Given the description of an element on the screen output the (x, y) to click on. 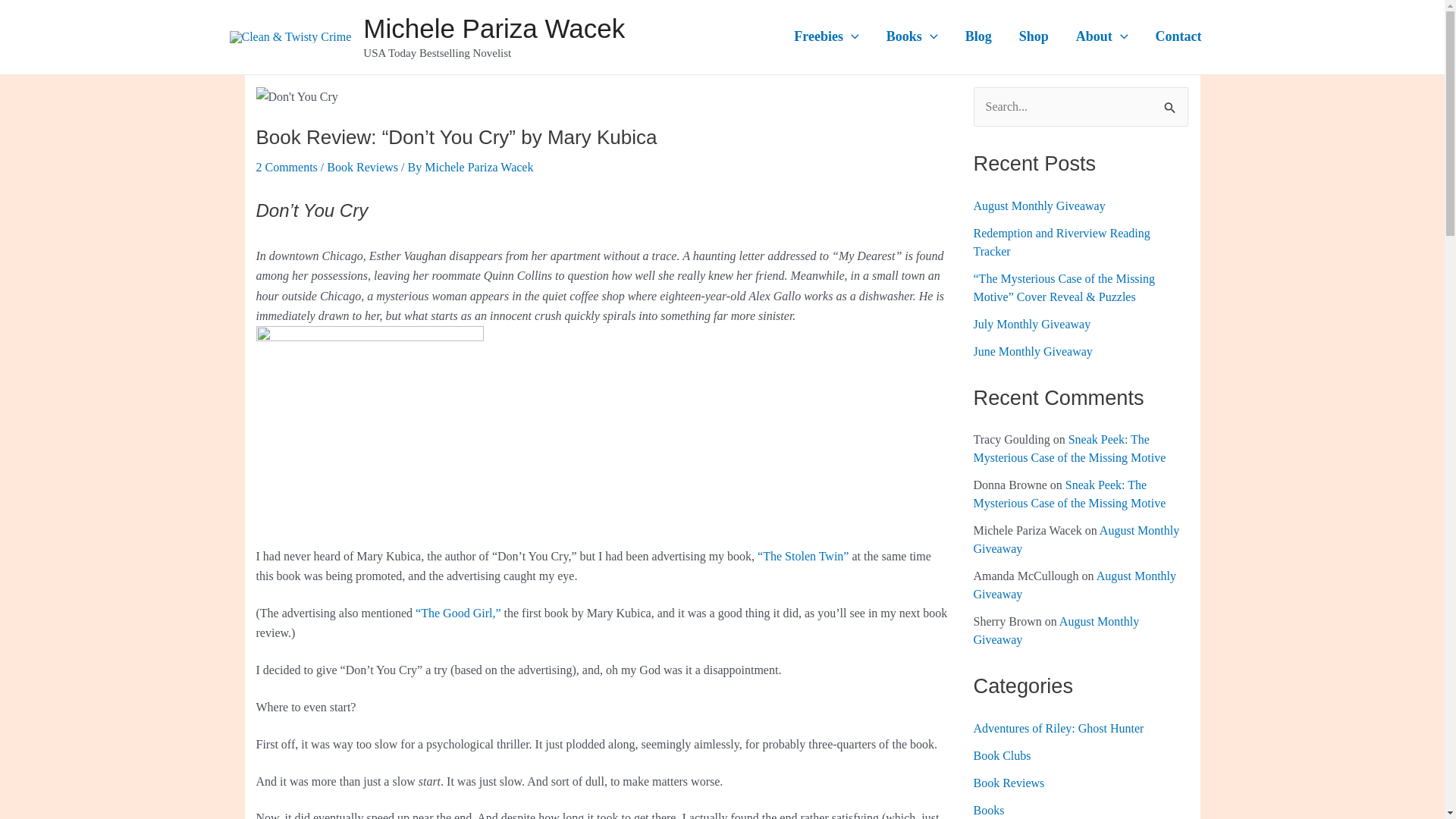
View all posts by Michele Pariza Wacek (478, 166)
Search (1171, 102)
Contact (1178, 36)
Blog (979, 36)
About (1101, 36)
Books (912, 36)
Michele Pariza Wacek (493, 28)
Shop (1034, 36)
Search (1171, 102)
Freebies (826, 36)
